Given the description of an element on the screen output the (x, y) to click on. 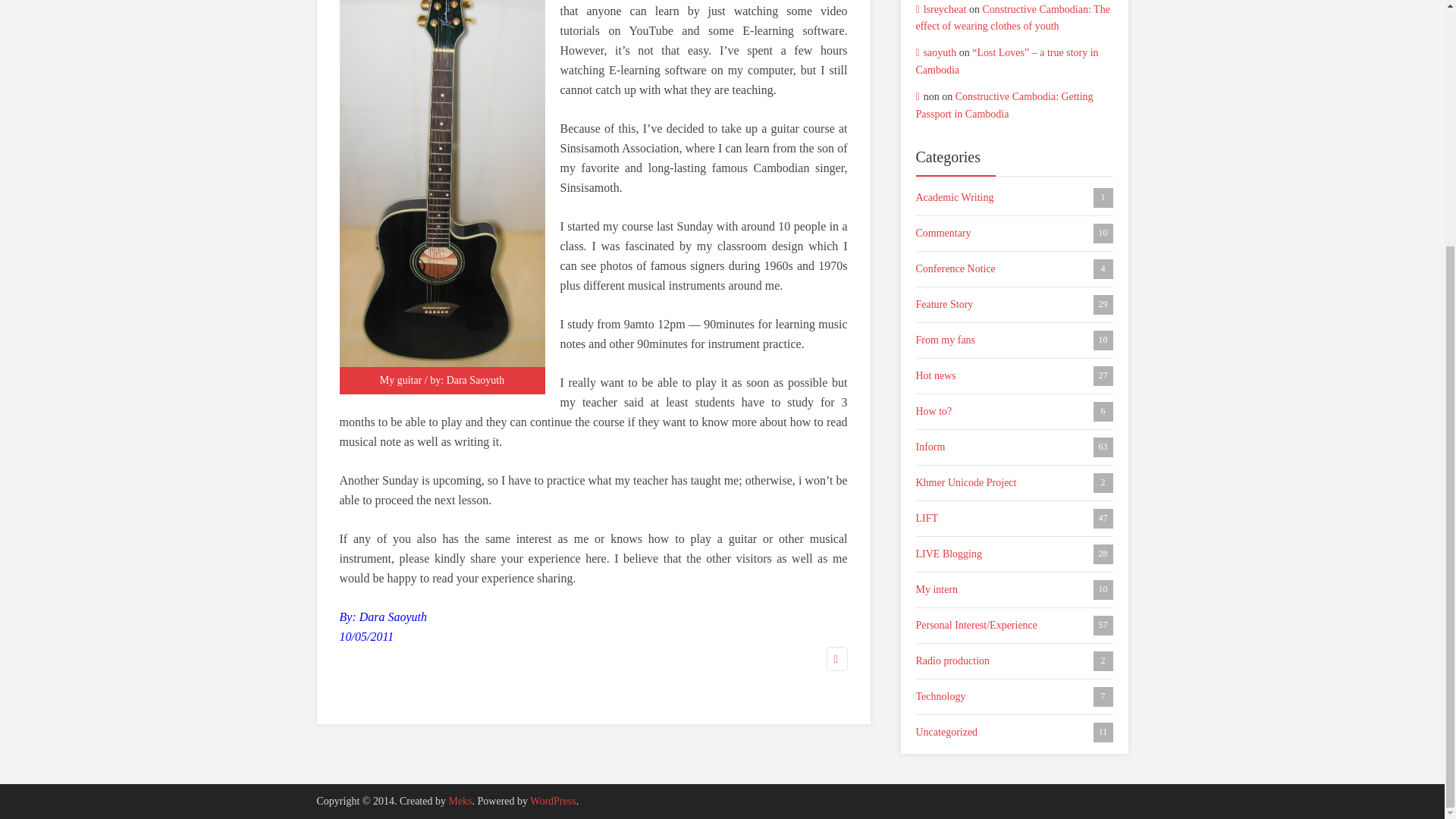
Meks (1014, 696)
lsreycheat (459, 800)
saoyuth (1014, 732)
